Given the description of an element on the screen output the (x, y) to click on. 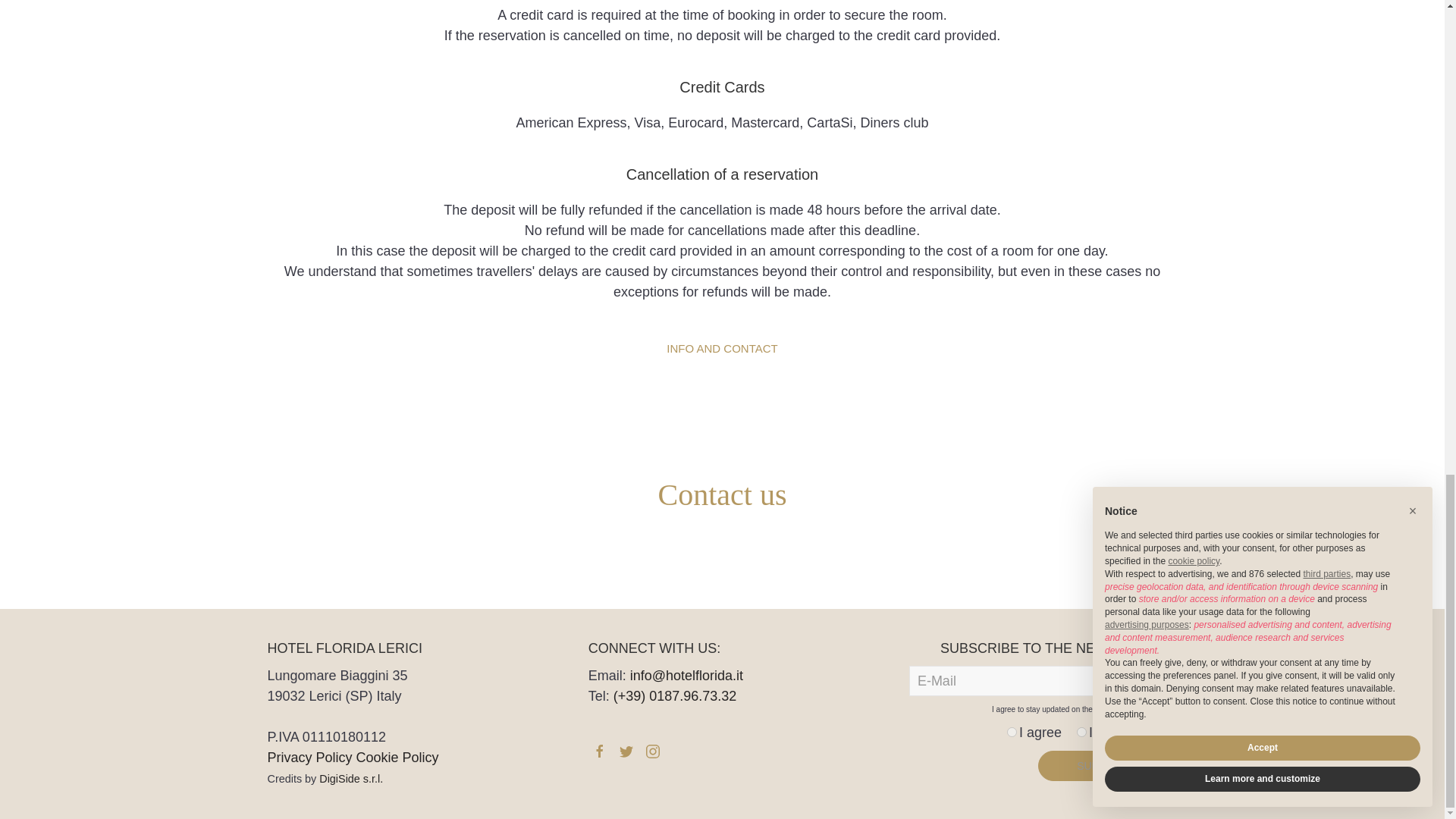
Cookie Policy  (397, 757)
Nego il consenso (1081, 732)
Subscribe (1107, 766)
Privacy Policy  (309, 757)
Do il consenso (1011, 732)
